Given the description of an element on the screen output the (x, y) to click on. 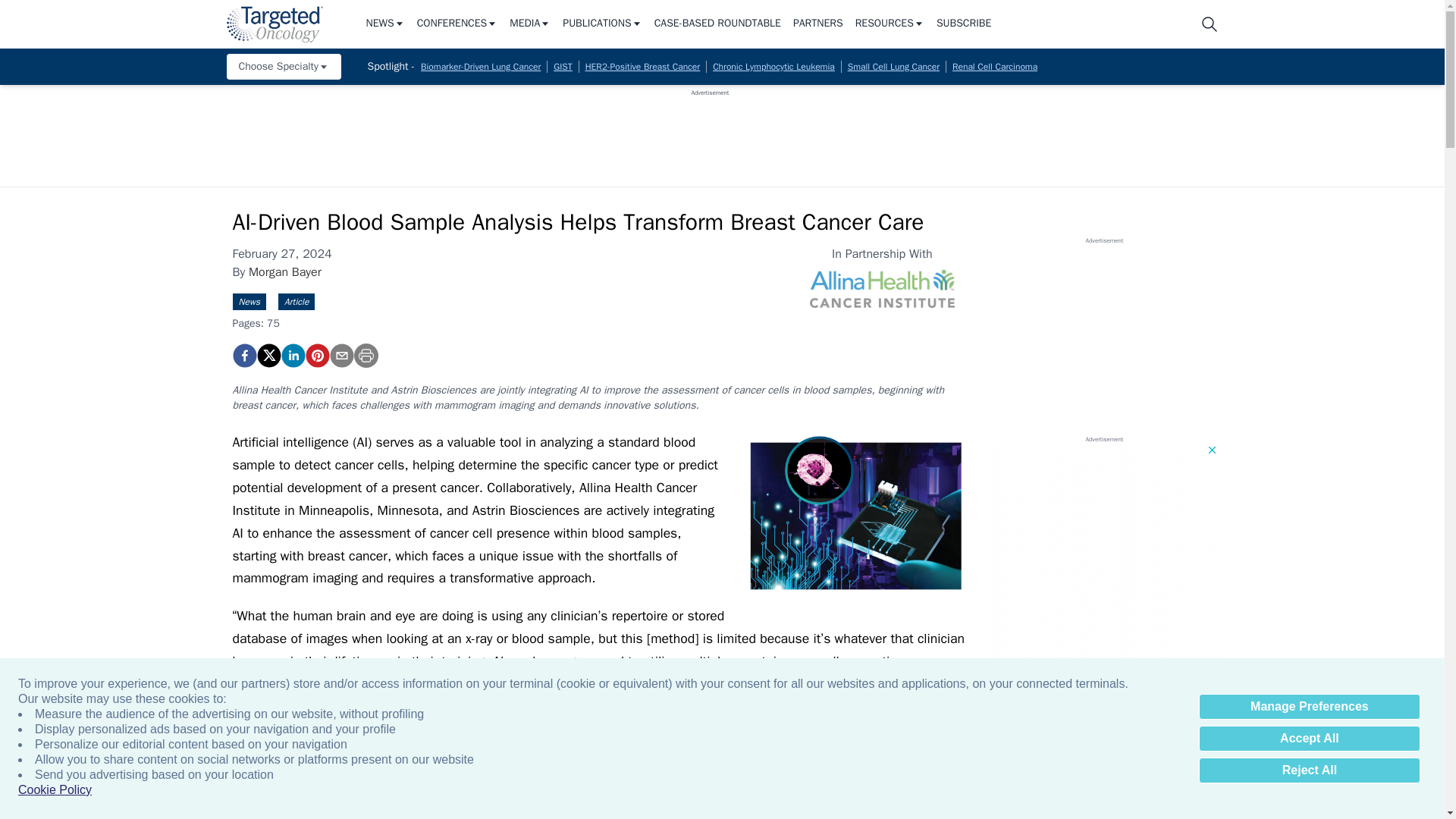
3rd party ad content (710, 131)
CONFERENCES (456, 23)
Accept All (1309, 738)
Reject All (1309, 769)
CASE-BASED ROUNDTABLE (716, 23)
NEWS (384, 23)
Cookie Policy (54, 789)
PUBLICATIONS (602, 23)
MEDIA (529, 23)
Manage Preferences (1309, 706)
